Given the description of an element on the screen output the (x, y) to click on. 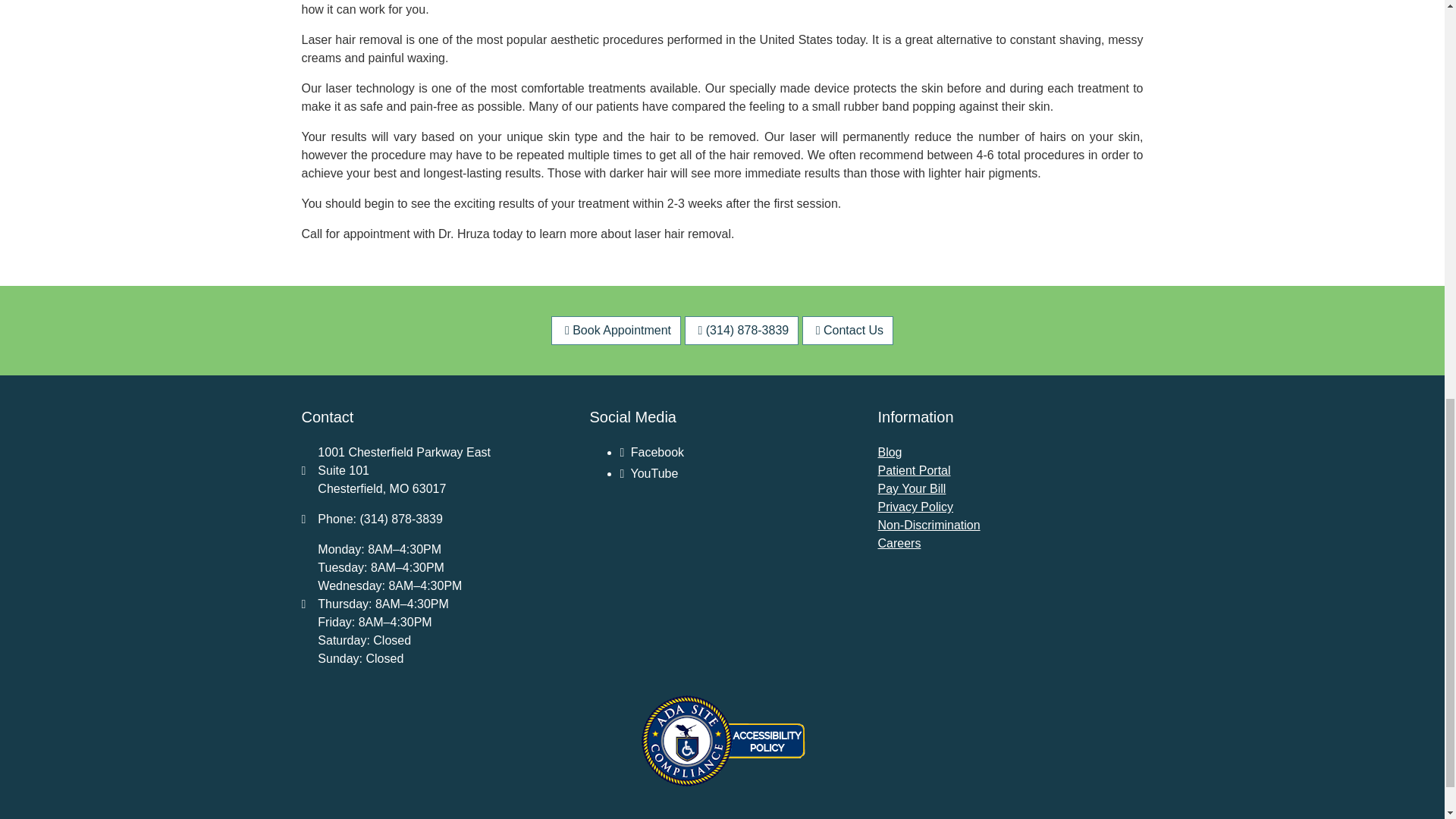
Book Appointment (616, 330)
Careers (898, 543)
YouTube (649, 472)
Contact Us (847, 330)
Pay Your Bill (910, 488)
Privacy Policy (915, 506)
Facebook (652, 451)
Non-Discrimination (928, 524)
Patient Portal (913, 470)
Blog (889, 451)
